Given the description of an element on the screen output the (x, y) to click on. 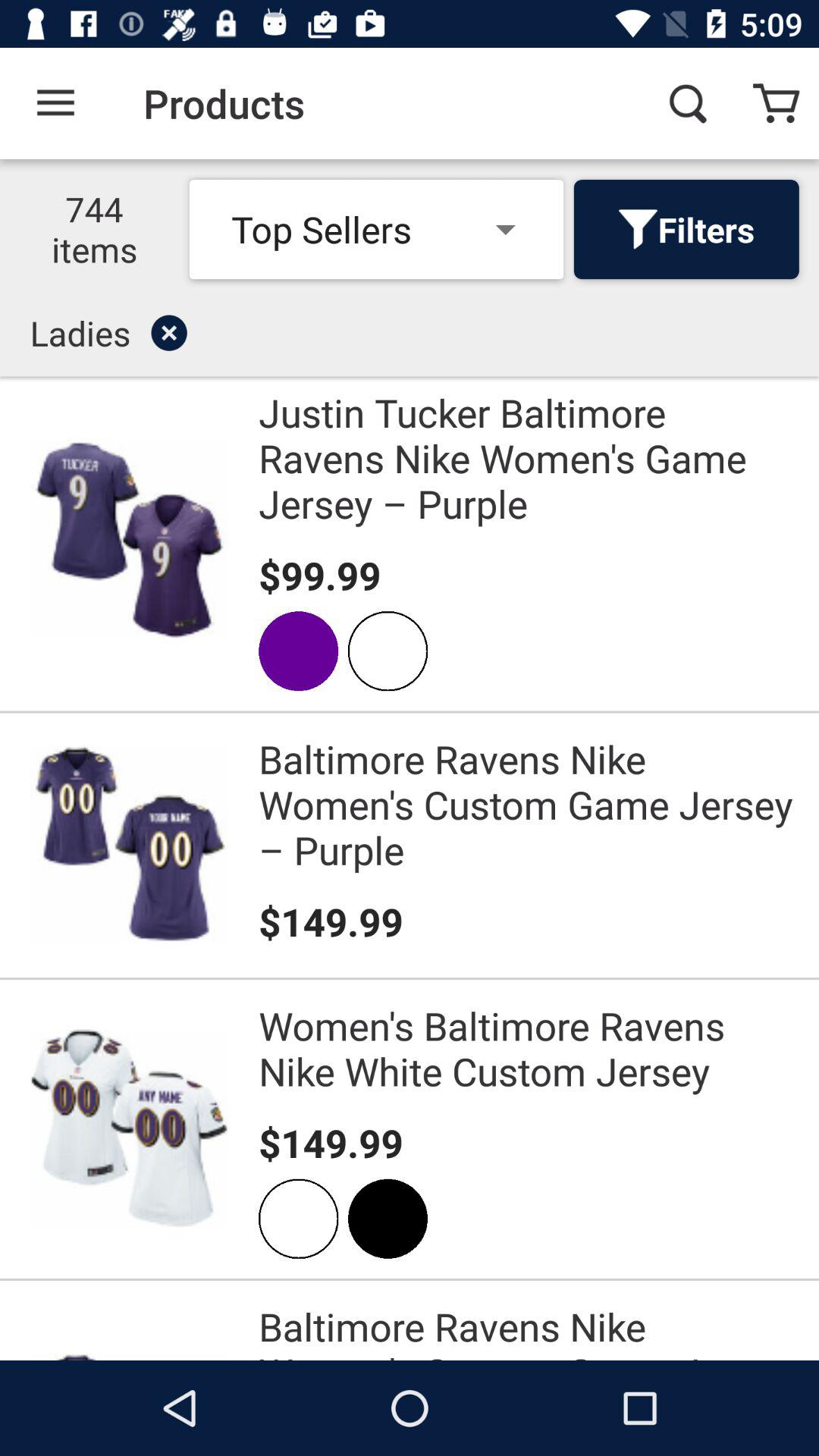
click the filter option (638, 228)
